Given the description of an element on the screen output the (x, y) to click on. 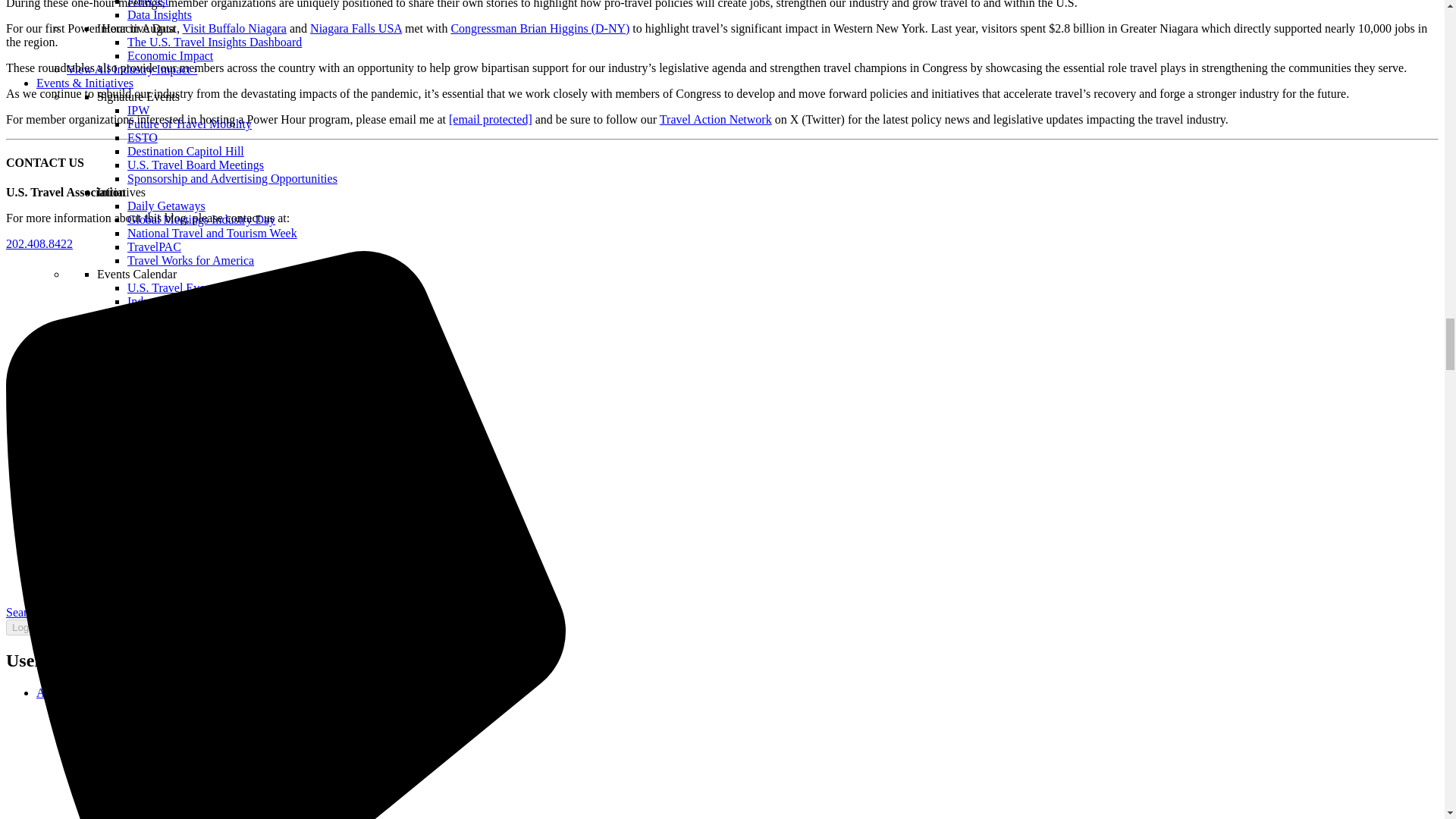
IPW (138, 110)
Login (24, 627)
Forecast (148, 3)
Data Insights (160, 14)
Future of Travel Mobility (189, 123)
Economic Impact (170, 55)
The U.S. Travel Insights Dashboard (214, 42)
